Given the description of an element on the screen output the (x, y) to click on. 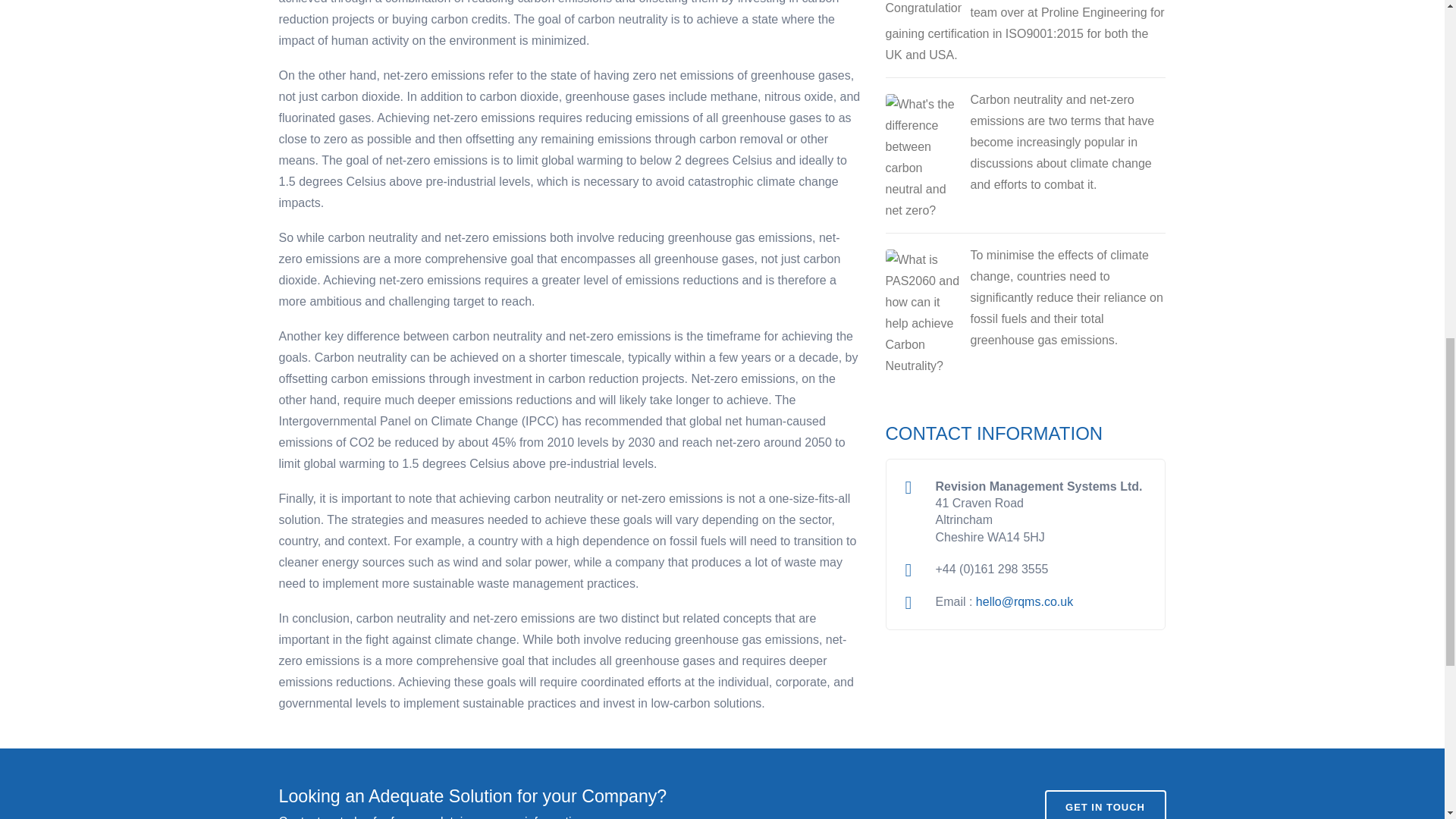
GET IN TOUCH (1105, 804)
